Given the description of an element on the screen output the (x, y) to click on. 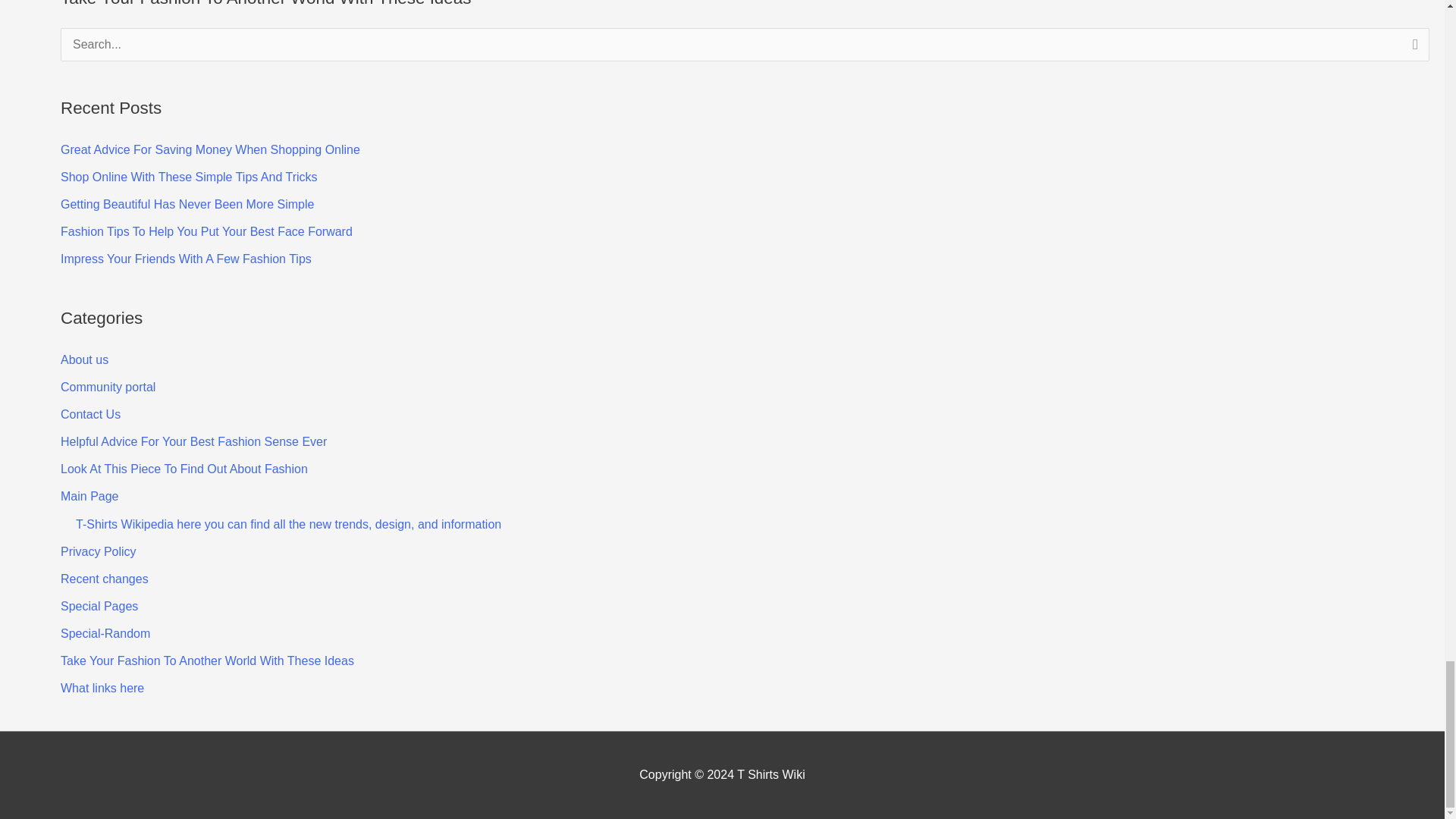
Community portal (108, 386)
Special-Random (105, 633)
Contact Us (90, 413)
Recent changes (104, 578)
Main Page (90, 495)
Helpful Advice For Your Best Fashion Sense Ever (193, 440)
Privacy Policy (98, 551)
Shop Online With These Simple Tips And Tricks (189, 176)
About us (84, 359)
Look At This Piece To Find Out About Fashion (184, 468)
What links here (102, 687)
Take Your Fashion To Another World With These Ideas (207, 660)
Getting Beautiful Has Never Been More Simple (187, 204)
Great Advice For Saving Money When Shopping Online (210, 149)
